Given the description of an element on the screen output the (x, y) to click on. 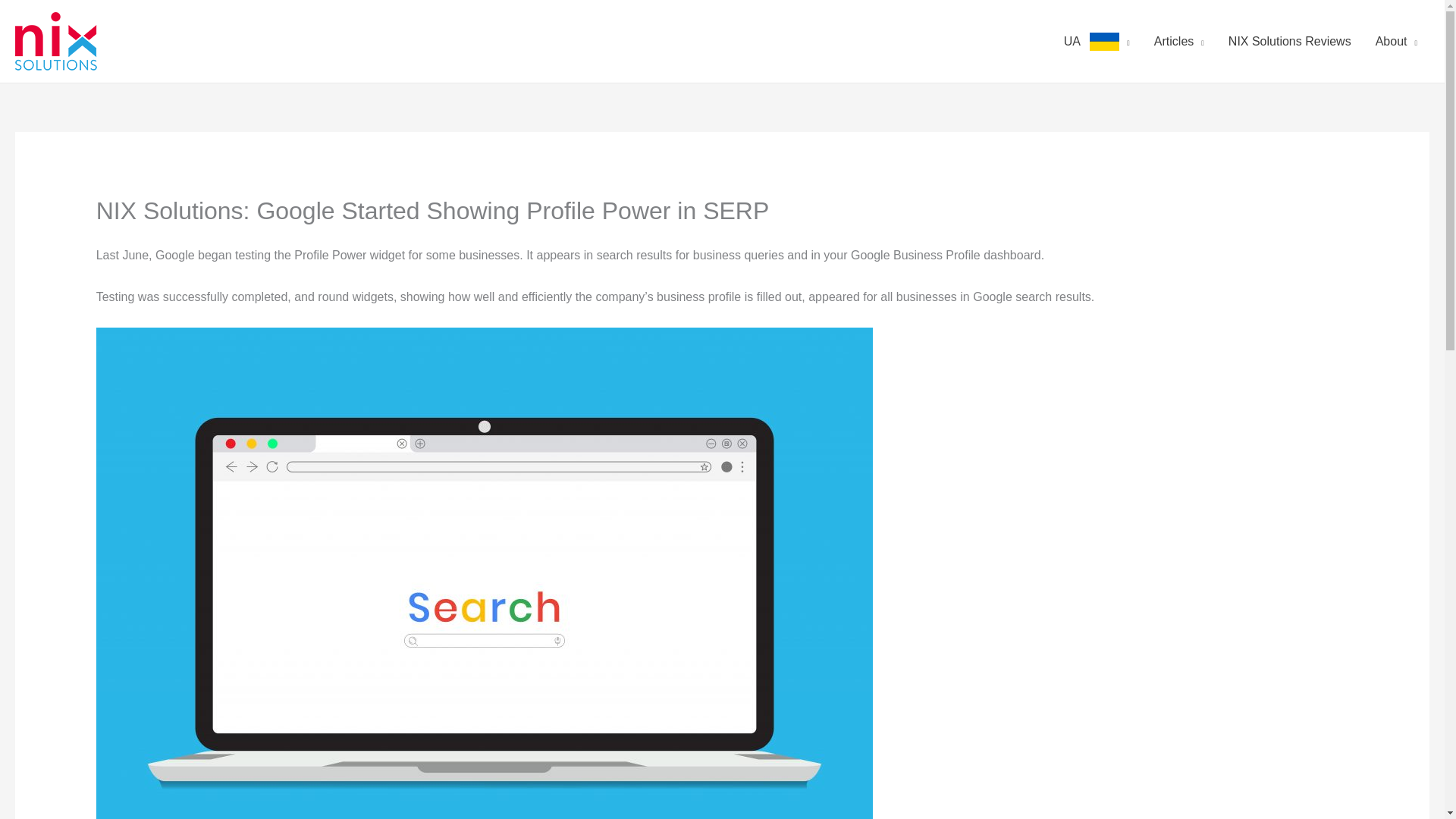
UA   (1096, 40)
Articles (1178, 40)
Ukrainian (1104, 41)
